Given the description of an element on the screen output the (x, y) to click on. 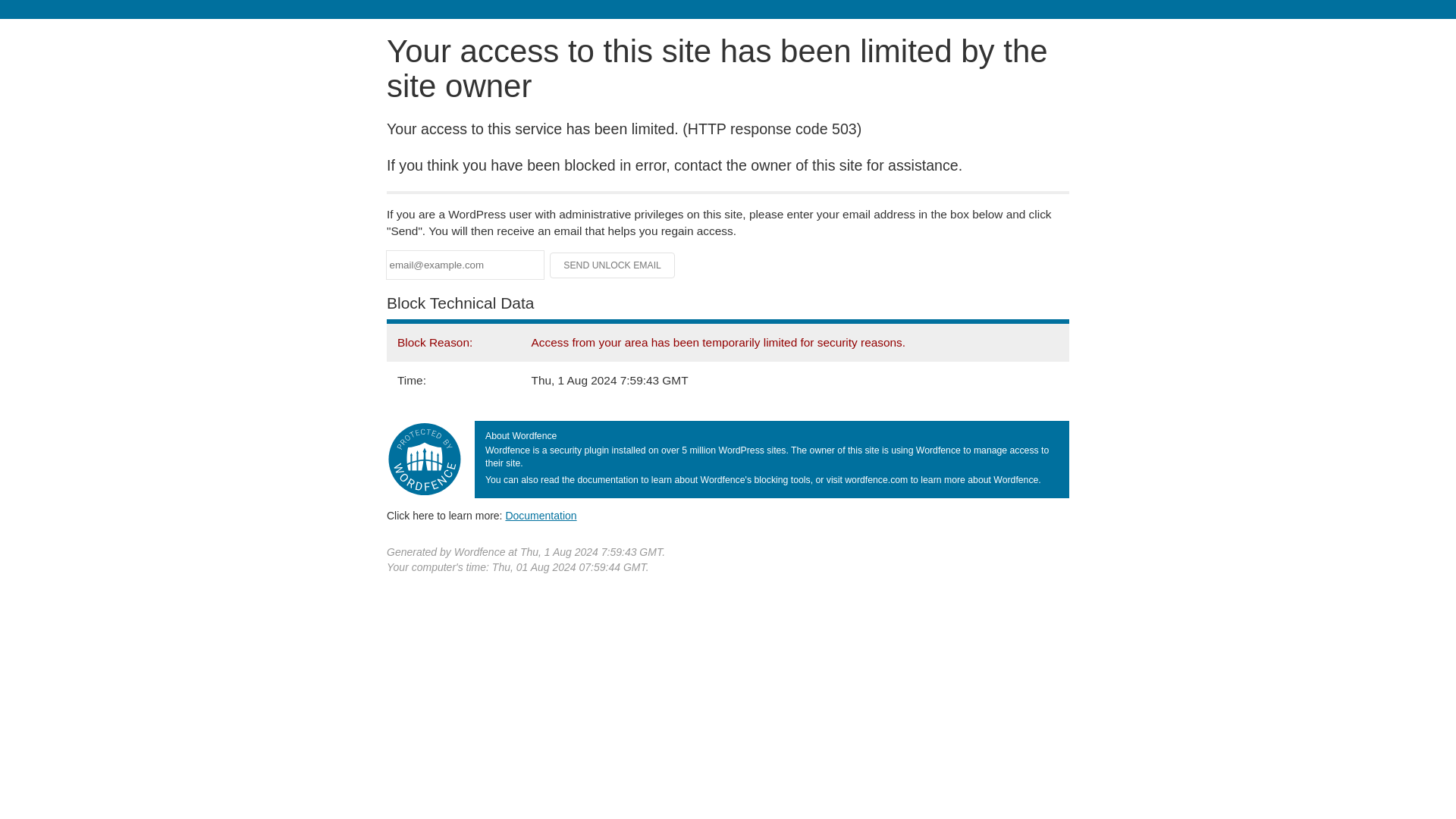
Send Unlock Email (612, 265)
Send Unlock Email (612, 265)
Documentation (540, 515)
